Given the description of an element on the screen output the (x, y) to click on. 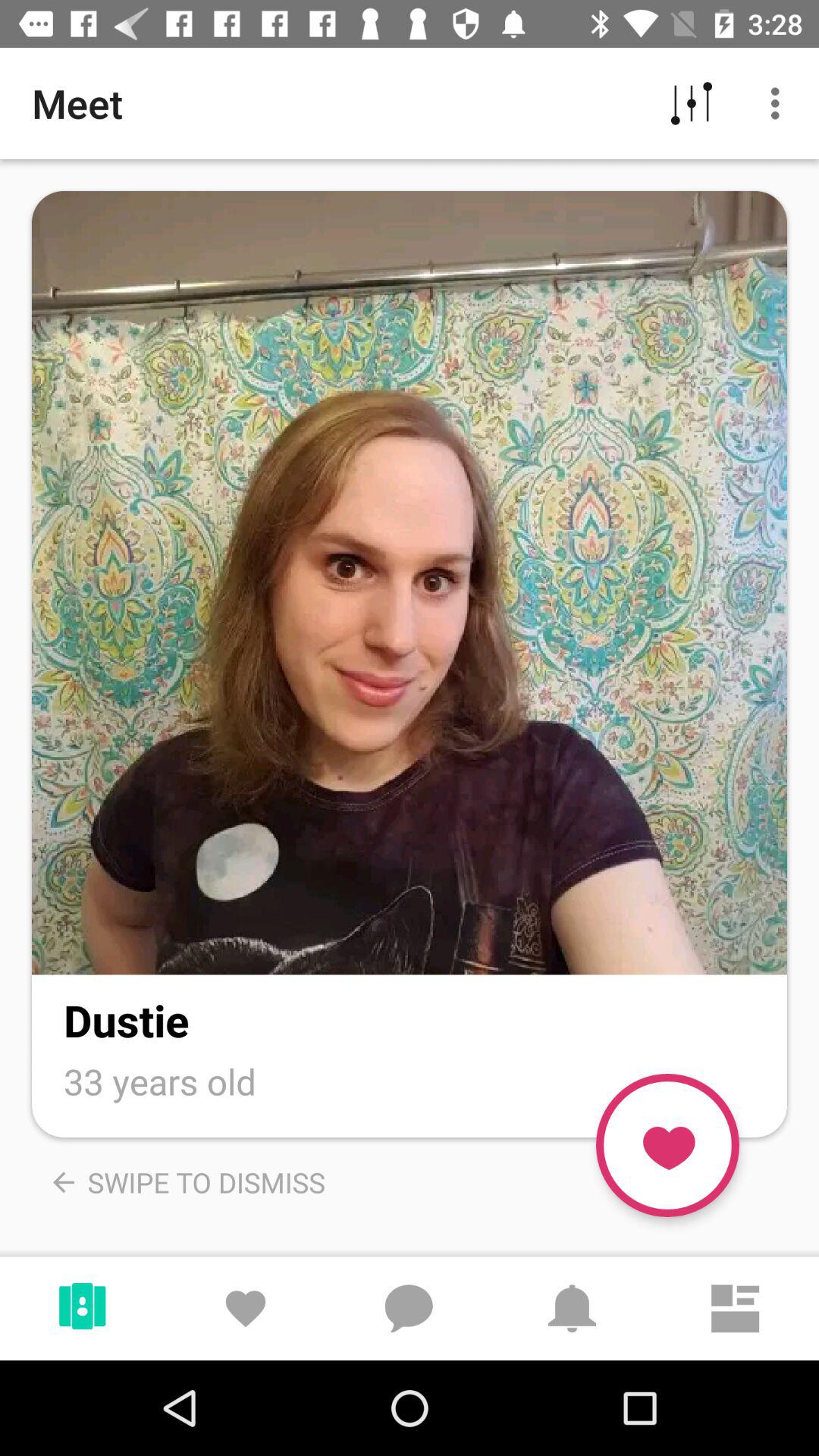
see pictures (409, 582)
